Given the description of an element on the screen output the (x, y) to click on. 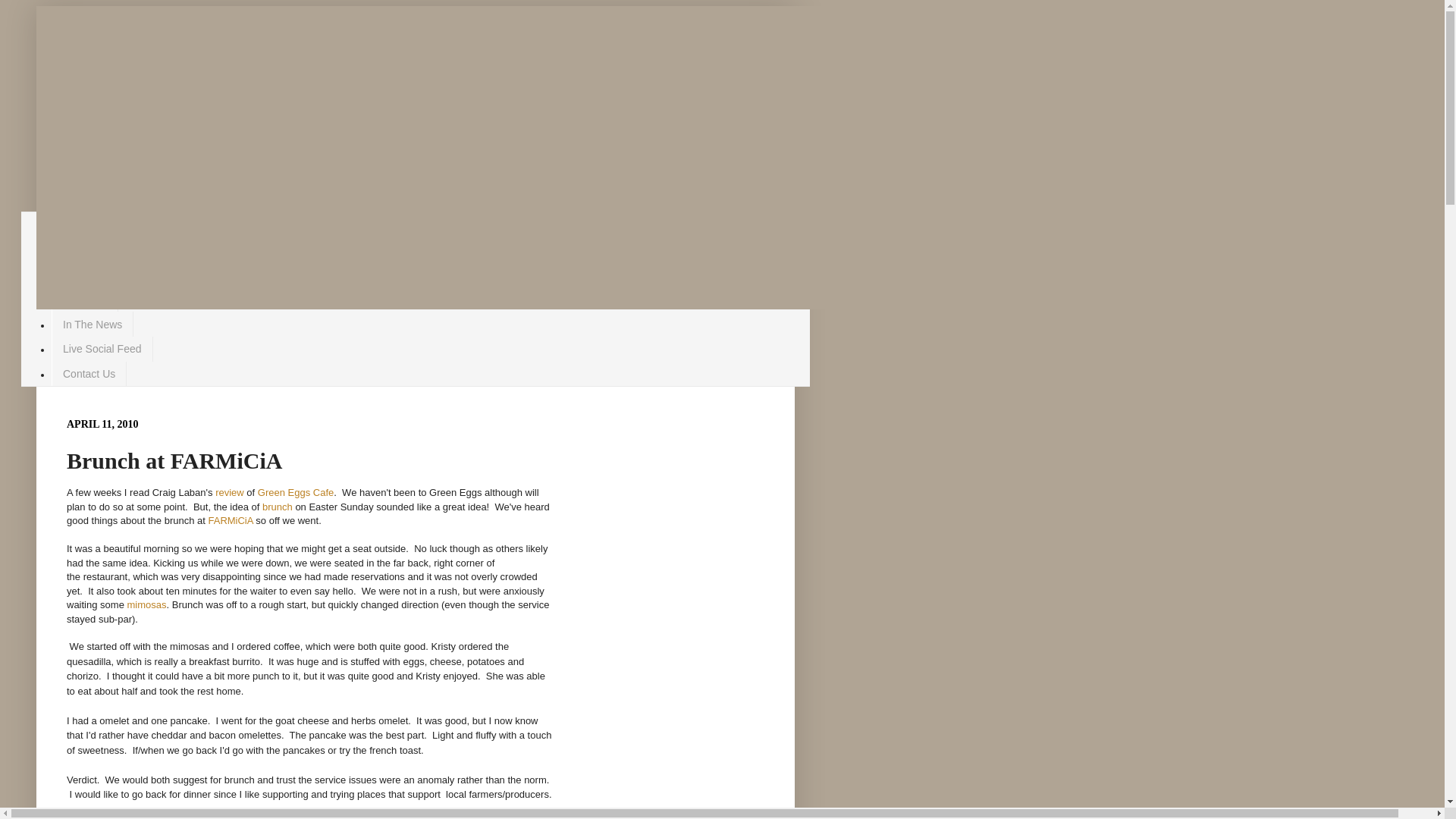
Home Element type: text (76, 224)
review  Element type: text (230, 492)
Sandwich Quest Element type: text (101, 274)
About Us Element type: text (84, 298)
In The News Element type: text (92, 323)
Food Trucks Element type: text (91, 249)
Contact Us Element type: text (88, 373)
Live Social Feed Element type: text (102, 348)
FARMiCiA  Element type: text (231, 520)
Green Eggs Cafe Element type: text (295, 492)
mimosas Element type: text (146, 604)
brunch Element type: text (277, 506)
